Given the description of an element on the screen output the (x, y) to click on. 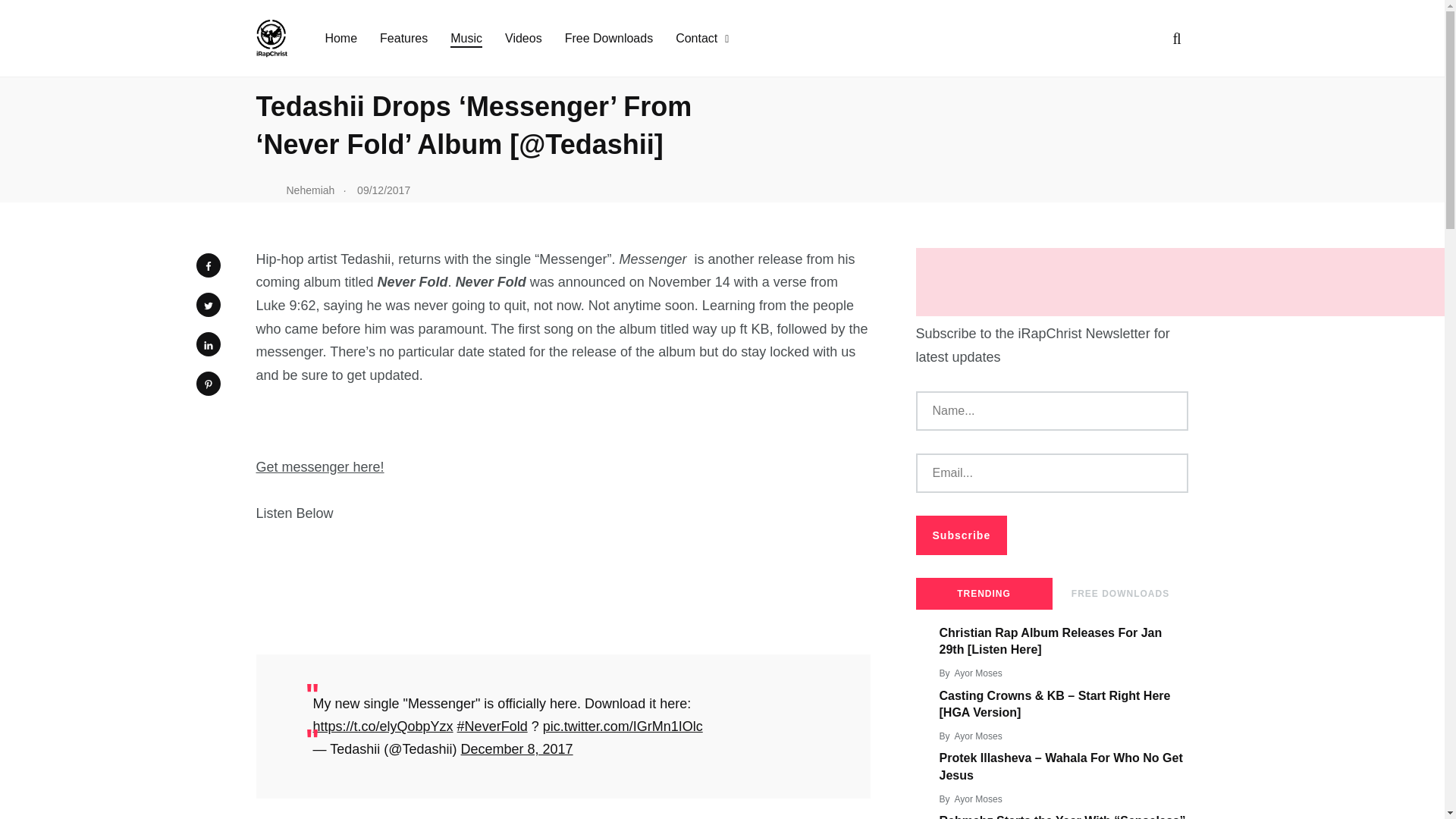
Features (404, 38)
Nehemiah (295, 190)
Contact (696, 38)
Home (340, 38)
iRapChrist (280, 23)
Music (465, 38)
Posts by Ayor Moses (979, 673)
Get messenger here! (320, 467)
Share on Facebook (207, 265)
Subscribe (961, 535)
